Given the description of an element on the screen output the (x, y) to click on. 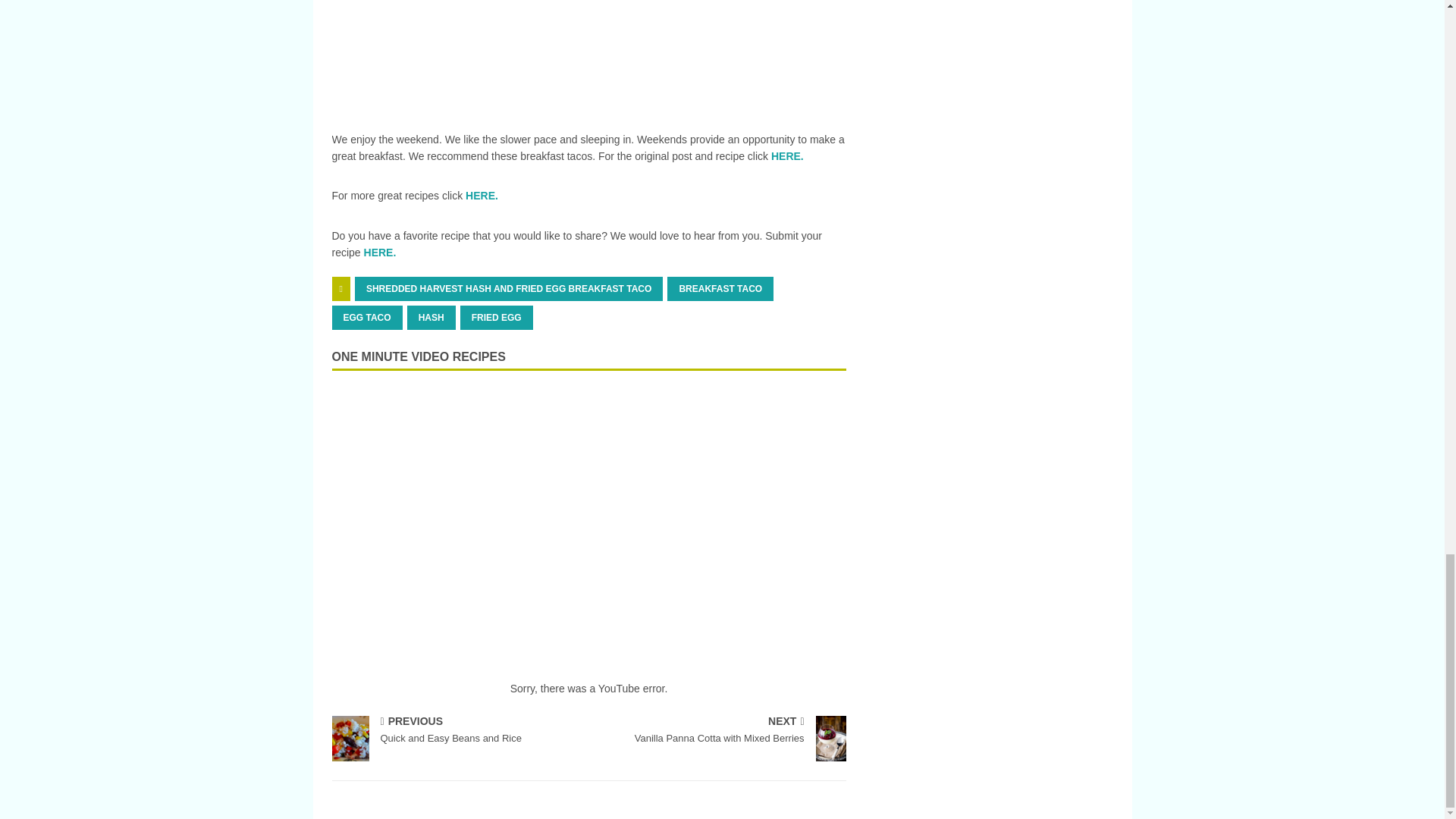
HERE. (380, 252)
HERE. (481, 195)
HERE. (787, 155)
EGG TACO (367, 317)
BREAKFAST TACO (720, 730)
SHREDDED HARVEST HASH AND FRIED EGG BREAKFAST TACO (719, 288)
HASH (508, 288)
